Given the description of an element on the screen output the (x, y) to click on. 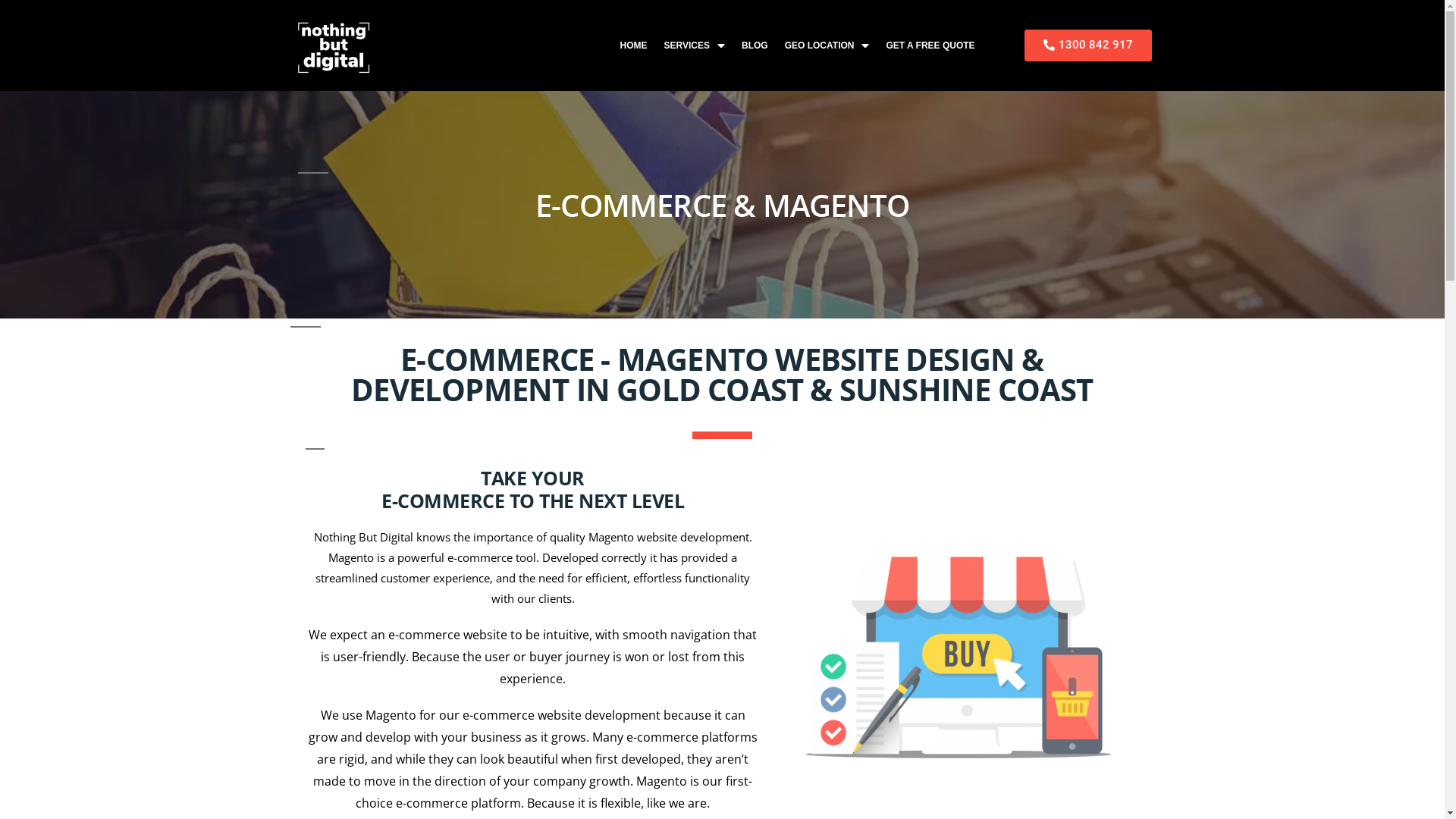
GET A FREE QUOTE Element type: text (929, 45)
SERVICES Element type: text (694, 45)
1300 842 917 Element type: text (1087, 45)
BLOG Element type: text (754, 45)
GEO LOCATION Element type: text (827, 45)
HOME Element type: text (633, 45)
